Given the description of an element on the screen output the (x, y) to click on. 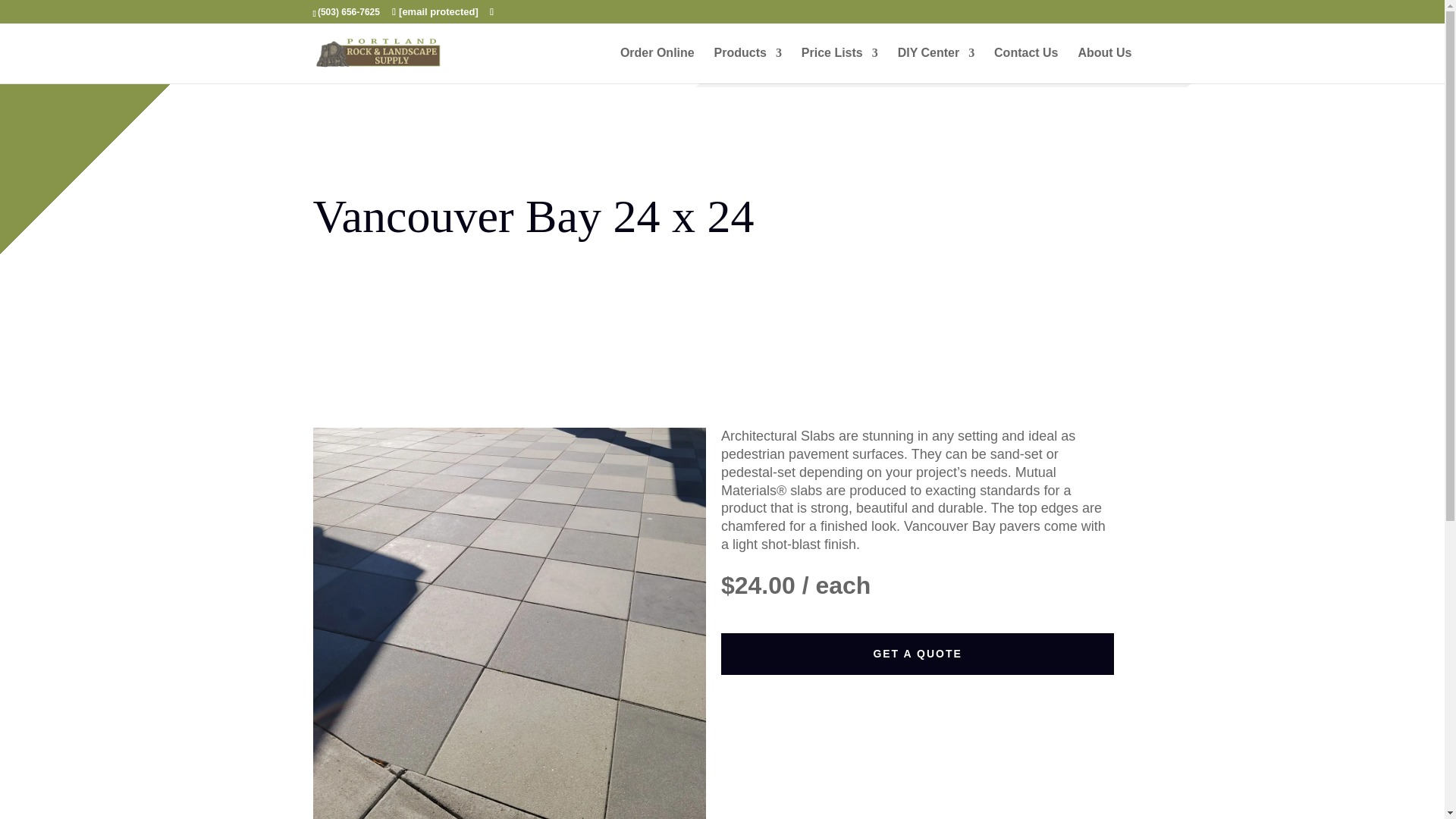
Price Lists (839, 65)
Order Online (657, 65)
Products (747, 65)
DIY Center (936, 65)
